Given the description of an element on the screen output the (x, y) to click on. 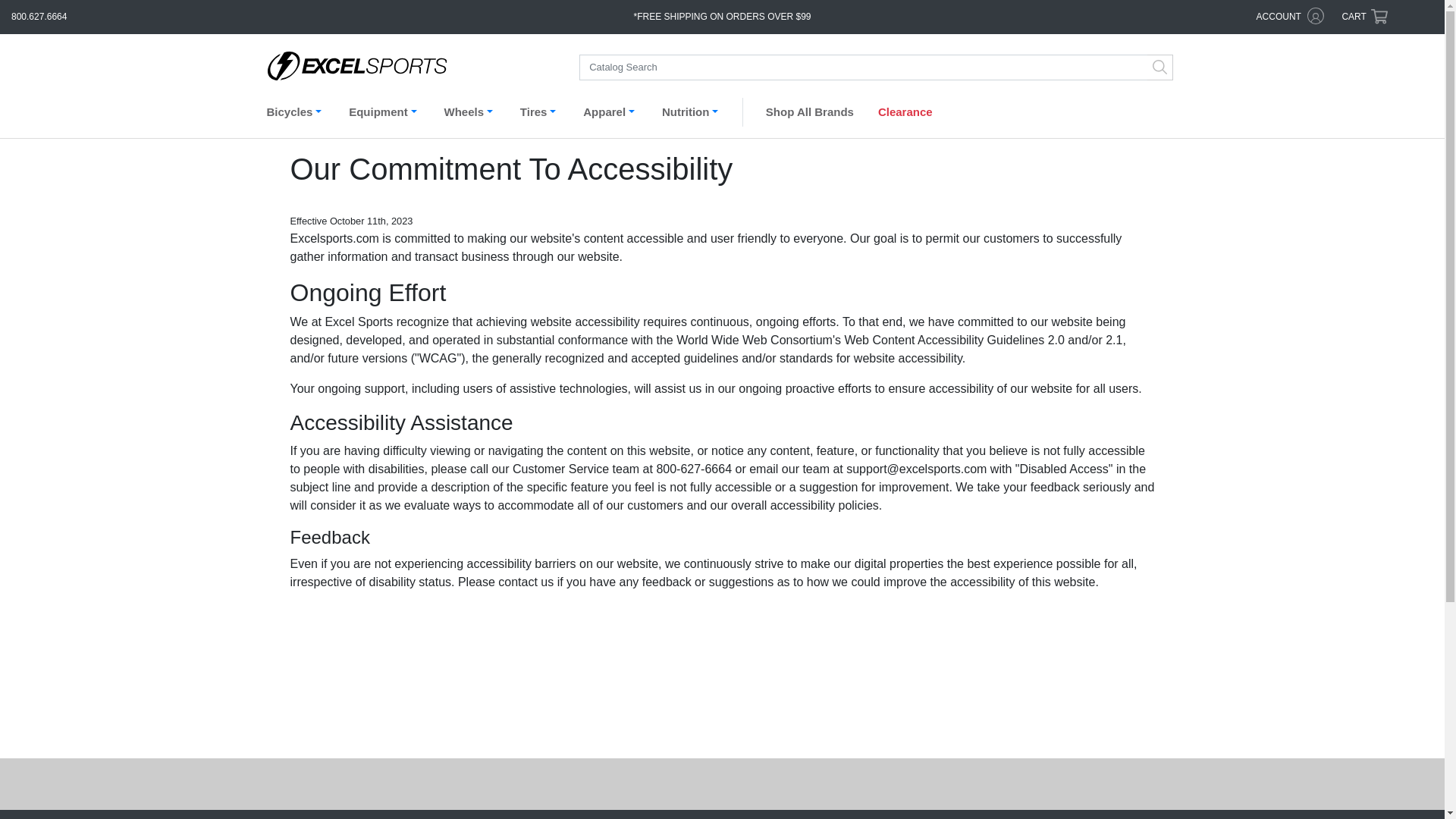
CART (1363, 16)
ACCOUNT (1290, 16)
Submit the search query. (1160, 67)
Bicycles (297, 114)
Equipment (385, 114)
